Given the description of an element on the screen output the (x, y) to click on. 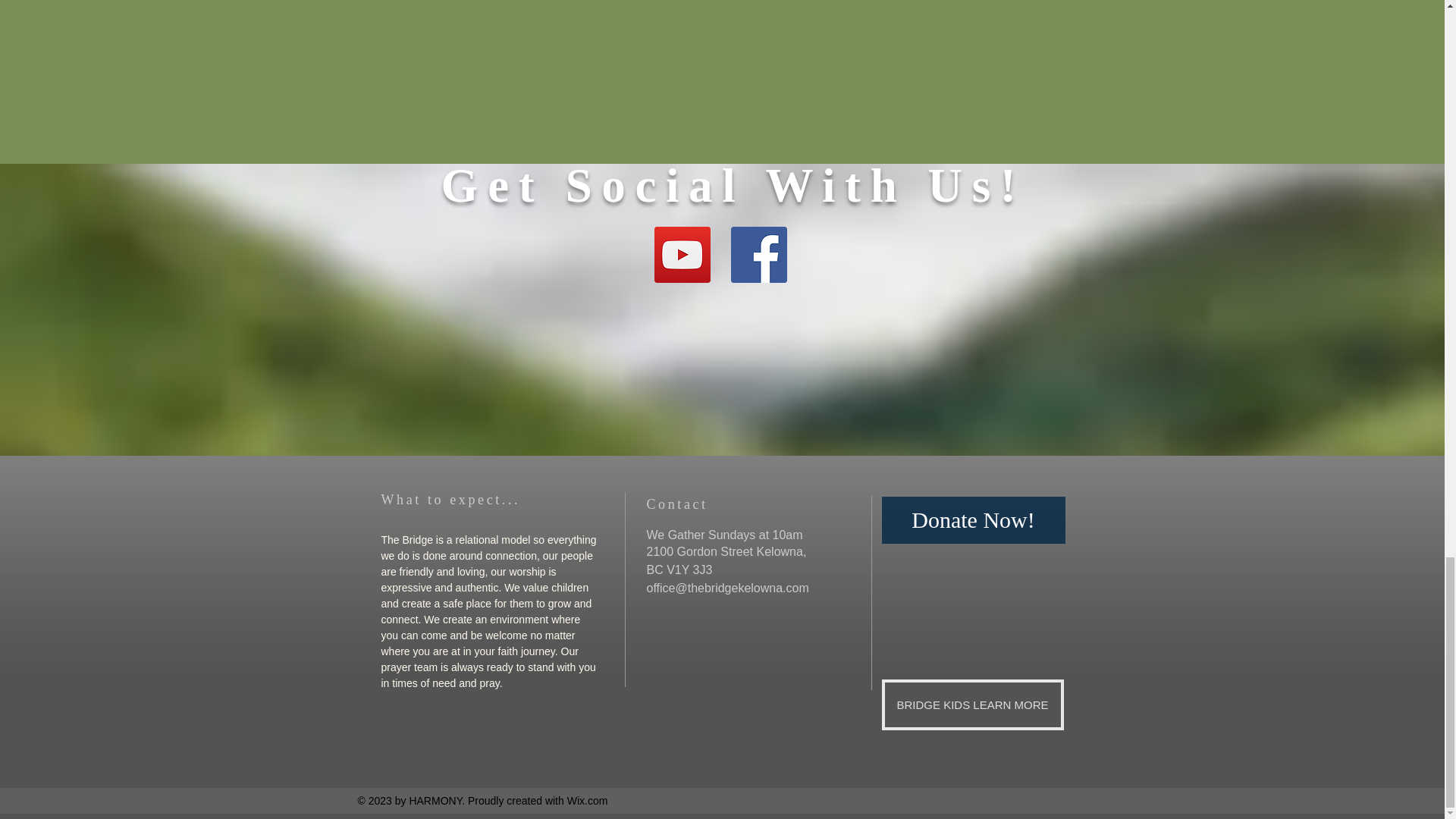
Donate Now! (972, 519)
Wix.com (587, 800)
BRIDGE KIDS LEARN MORE (971, 704)
